Given the description of an element on the screen output the (x, y) to click on. 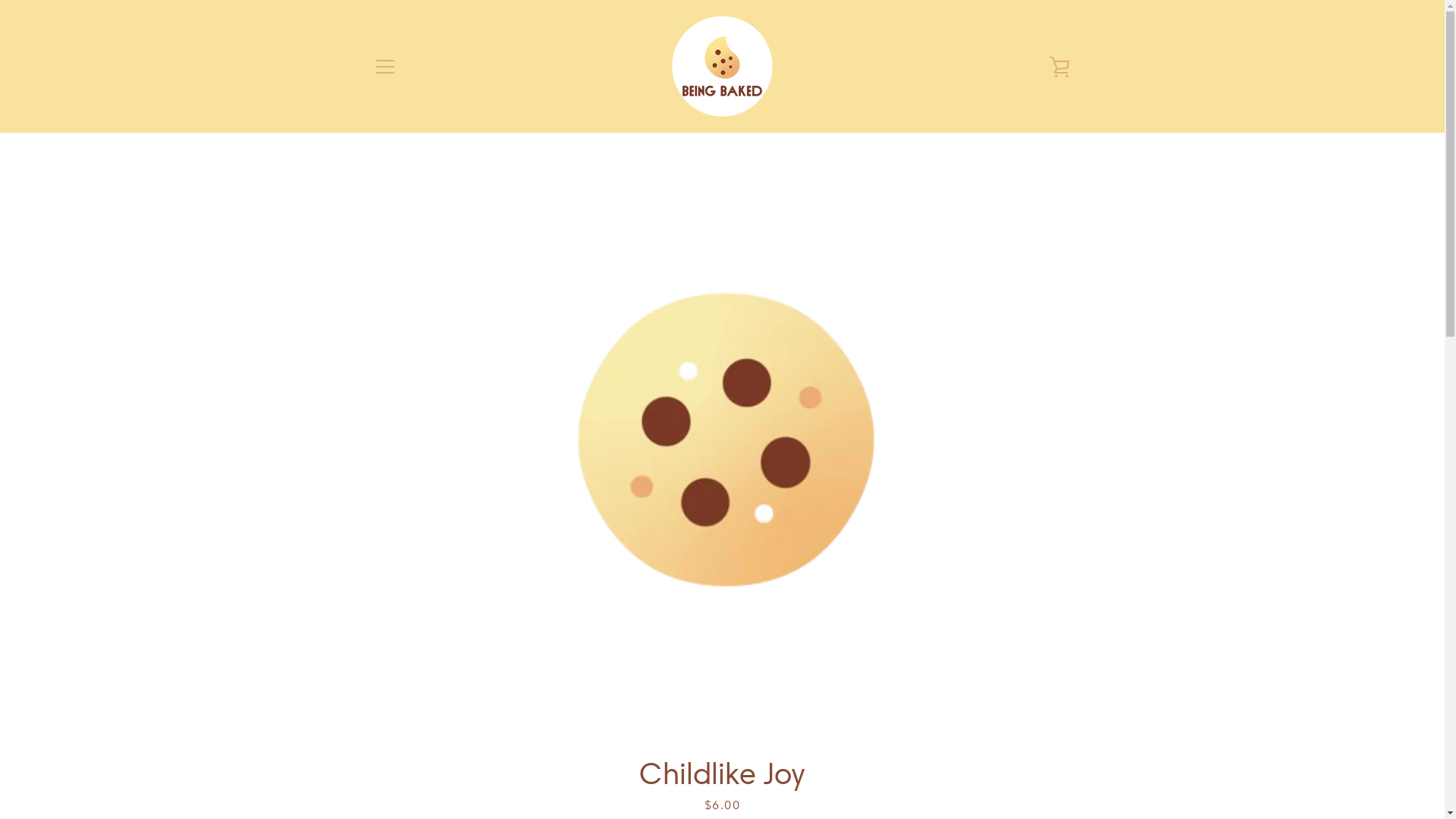
Facebook Element type: text (372, 768)
Instagram Element type: text (398, 768)
Powered by Shopify Element type: text (767, 769)
VIEW CART Element type: text (1059, 65)
Skip to content Element type: text (0, 0)
MENU Element type: text (384, 65)
Being Baked Cookies Element type: text (741, 759)
